Given the description of an element on the screen output the (x, y) to click on. 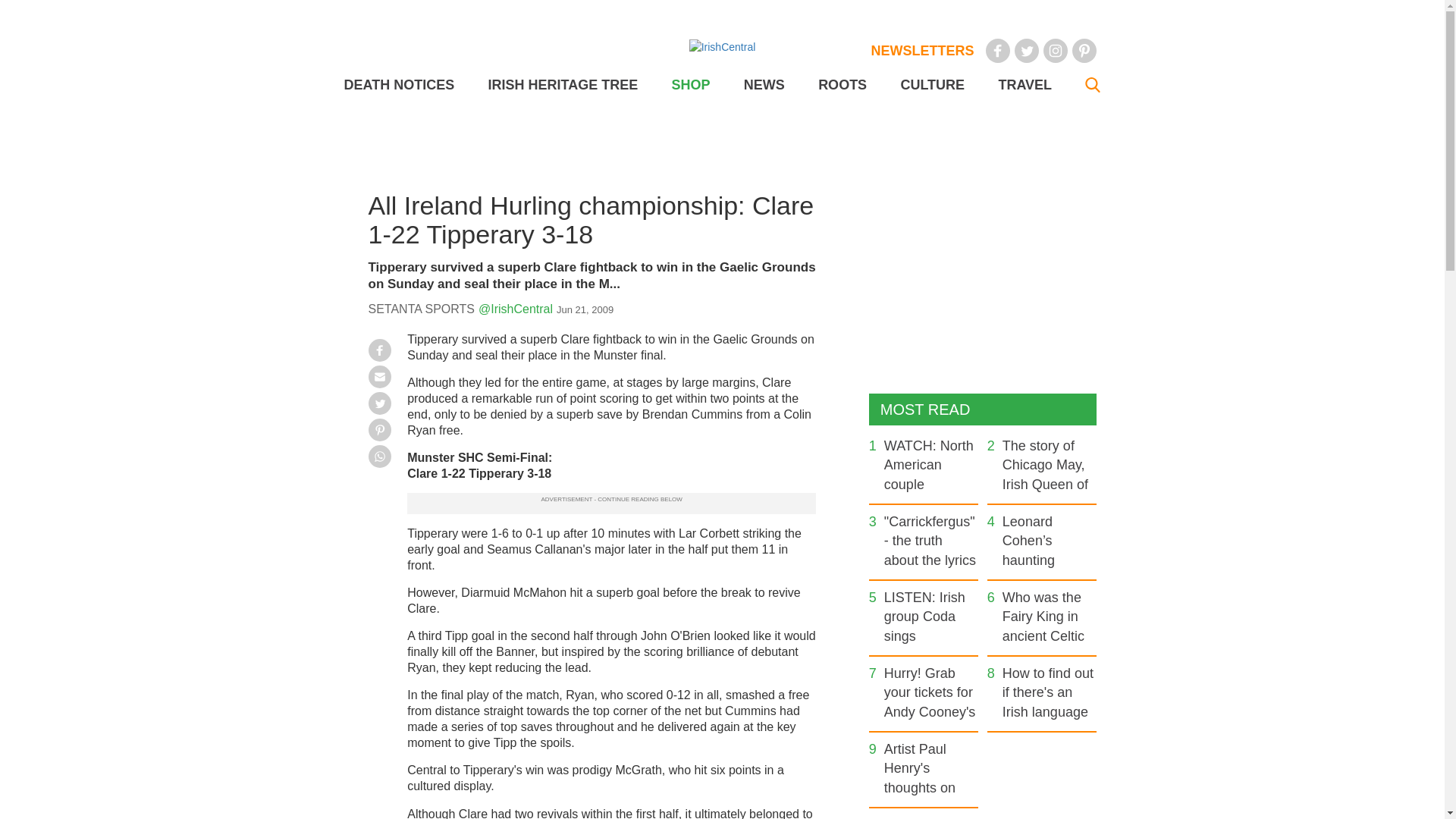
SHOP (690, 84)
NEWS (764, 84)
ROOTS (842, 84)
IRISH HERITAGE TREE (562, 84)
TRAVEL (1024, 84)
NEWSLETTERS (922, 50)
DEATH NOTICES (398, 84)
CULTURE (931, 84)
